Given the description of an element on the screen output the (x, y) to click on. 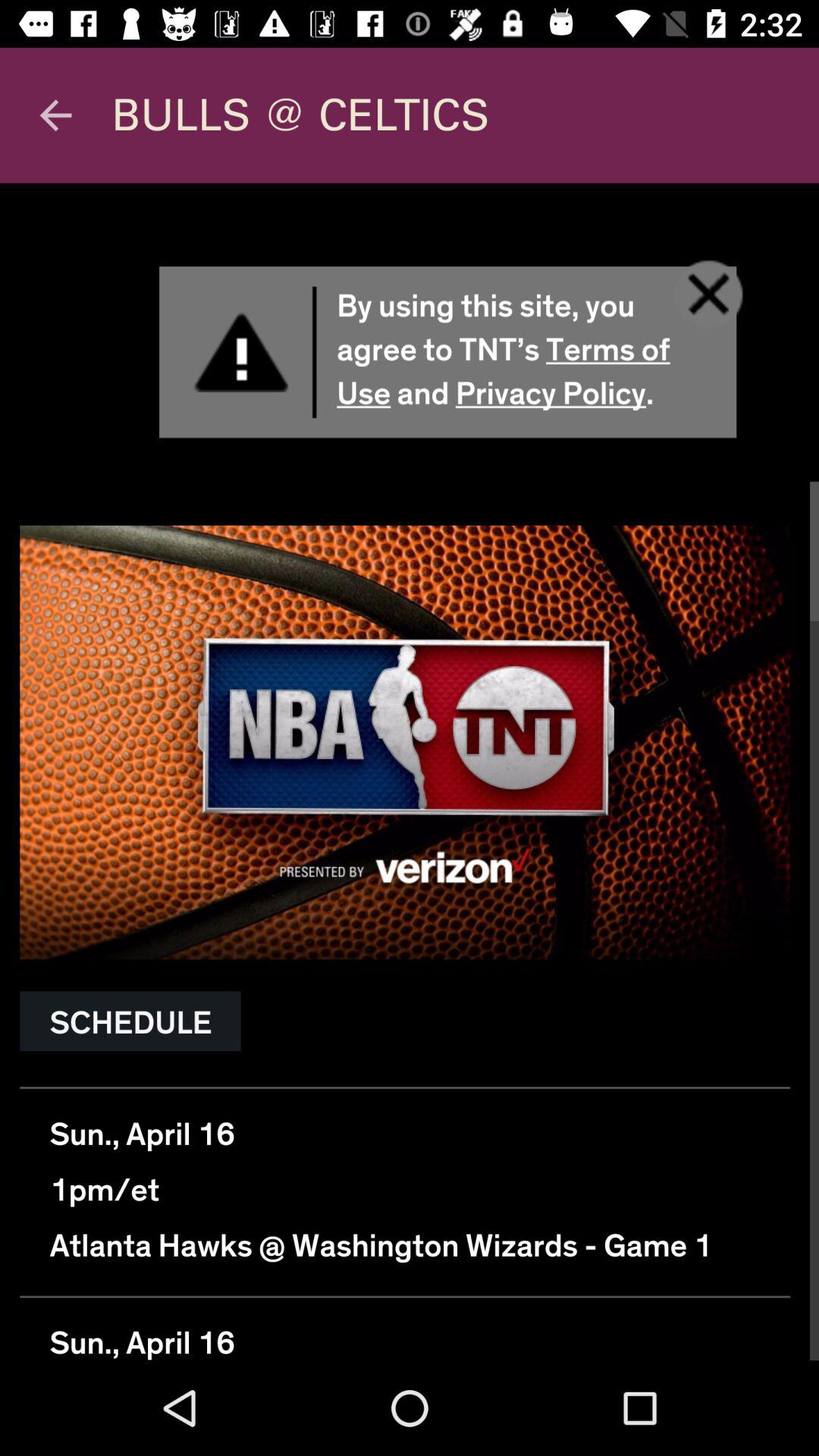
front page (409, 771)
